Given the description of an element on the screen output the (x, y) to click on. 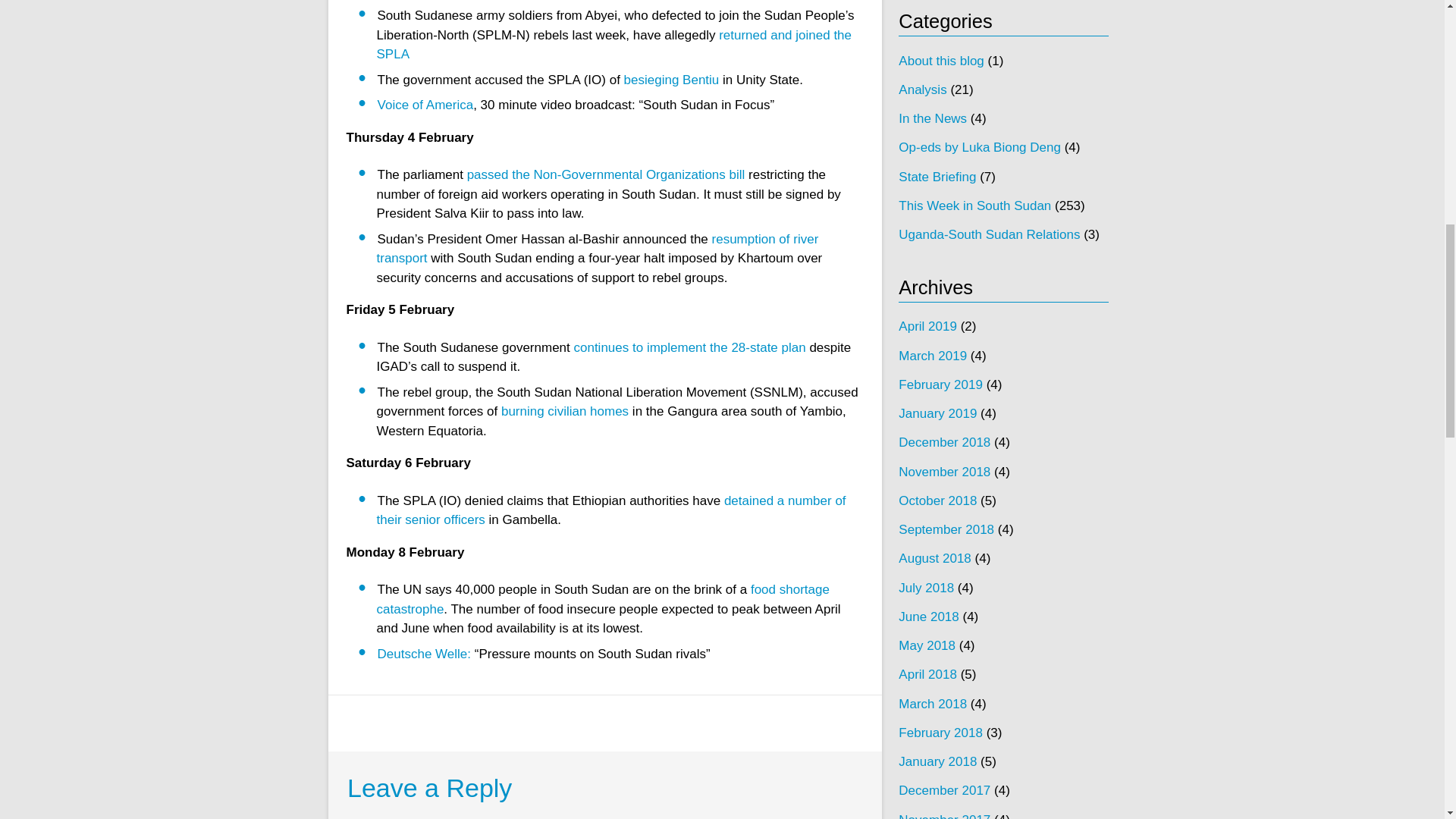
food shortage catastrophe (601, 599)
Deutsche Welle: (423, 653)
detained a number of their senior officers (610, 510)
resumption of river transport (596, 248)
Voice of America (425, 104)
returned and joined the SPLA (613, 44)
passed the Non-Governmental Organizations bill (606, 174)
burning civilian homes (564, 411)
besieging Bentiu (671, 79)
continues to implement the 28-state plan (689, 347)
